Given the description of an element on the screen output the (x, y) to click on. 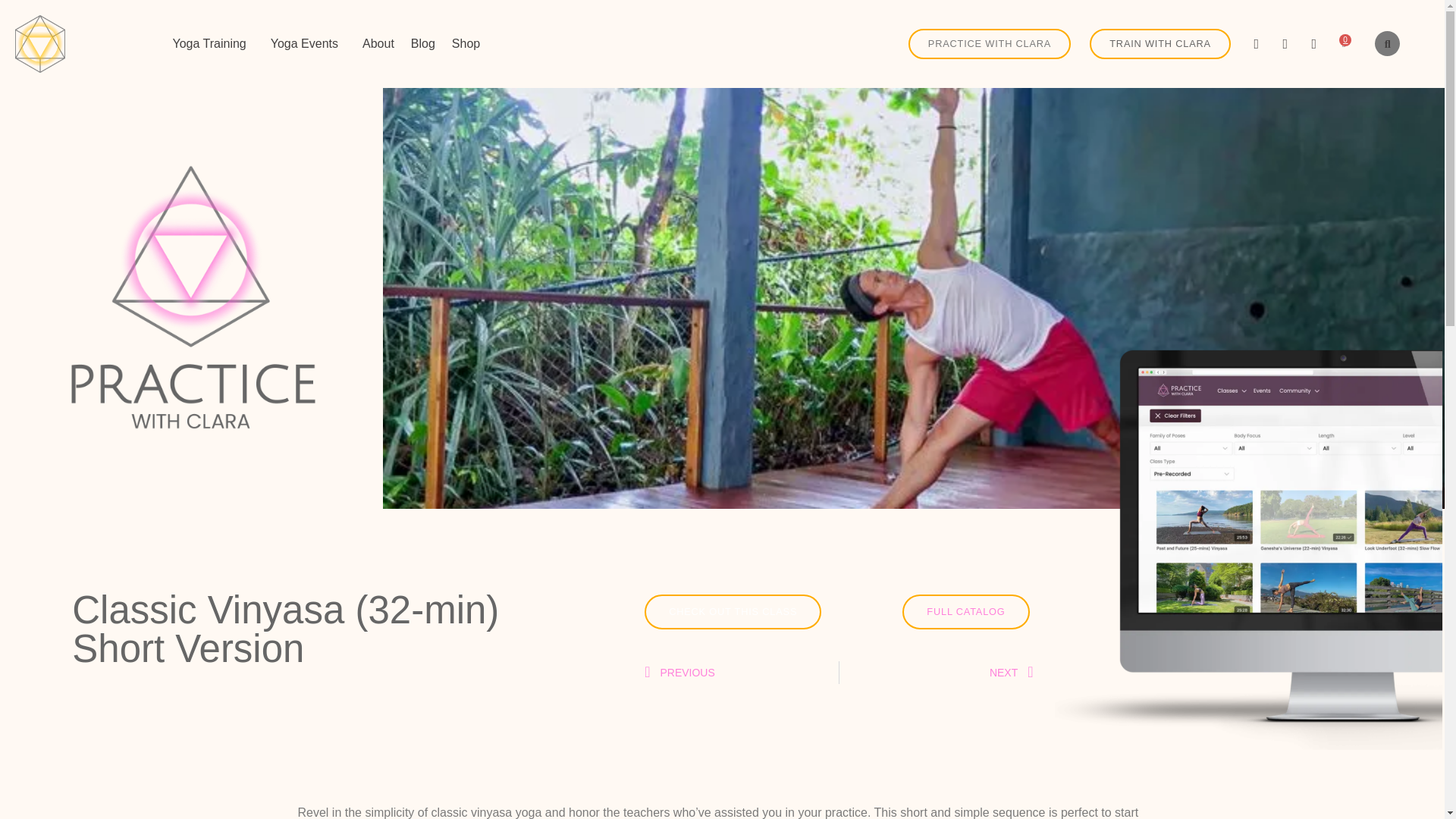
PRACTICE WITH CLARA (989, 43)
TRAIN WITH CLARA (1159, 43)
Yoga Training (212, 43)
About (378, 43)
Shop (465, 43)
Yoga Events (307, 43)
Blog (423, 43)
